Given the description of an element on the screen output the (x, y) to click on. 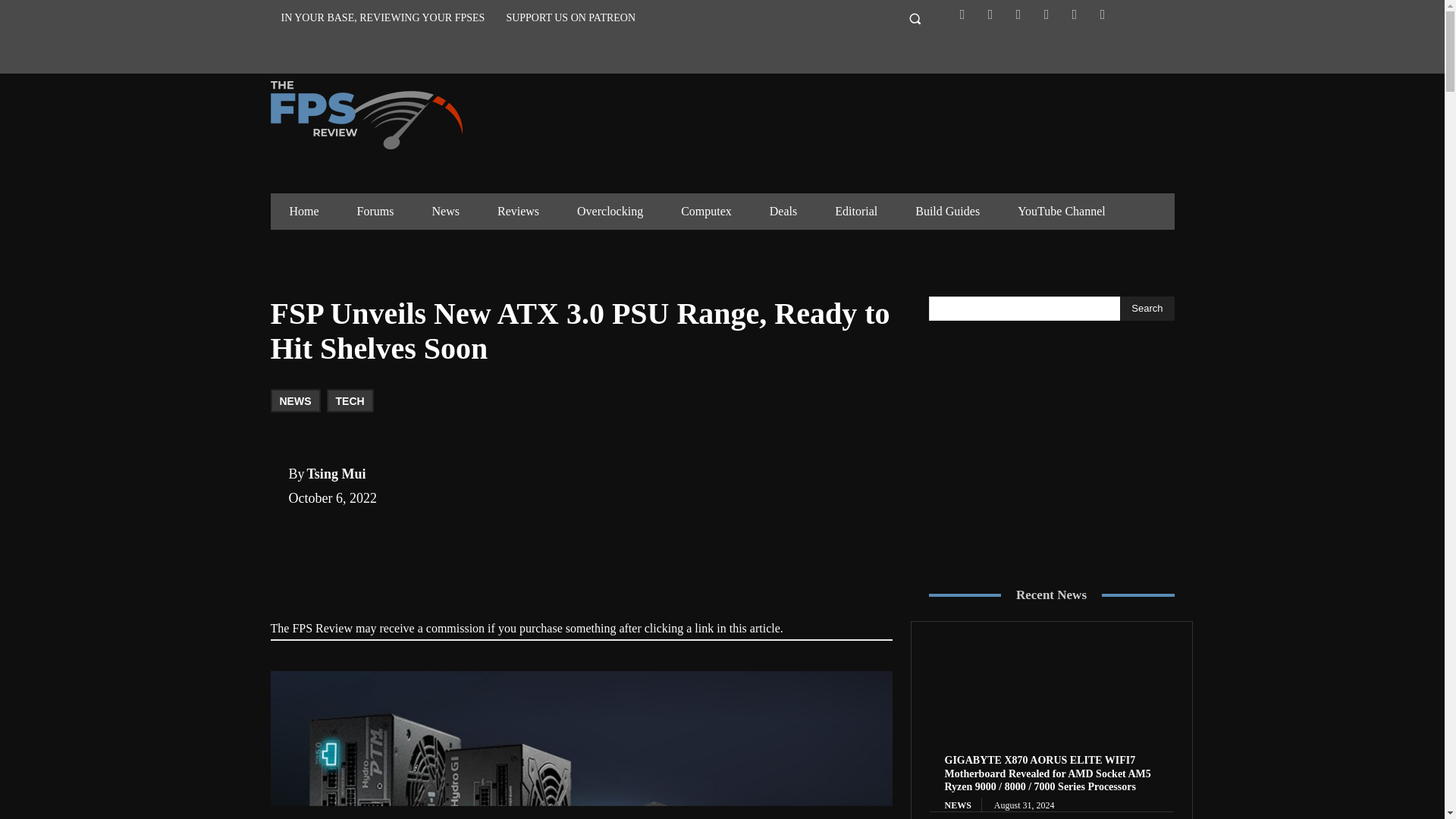
Facebook (962, 13)
Flipboard (990, 13)
Instagram (1018, 13)
